Given the description of an element on the screen output the (x, y) to click on. 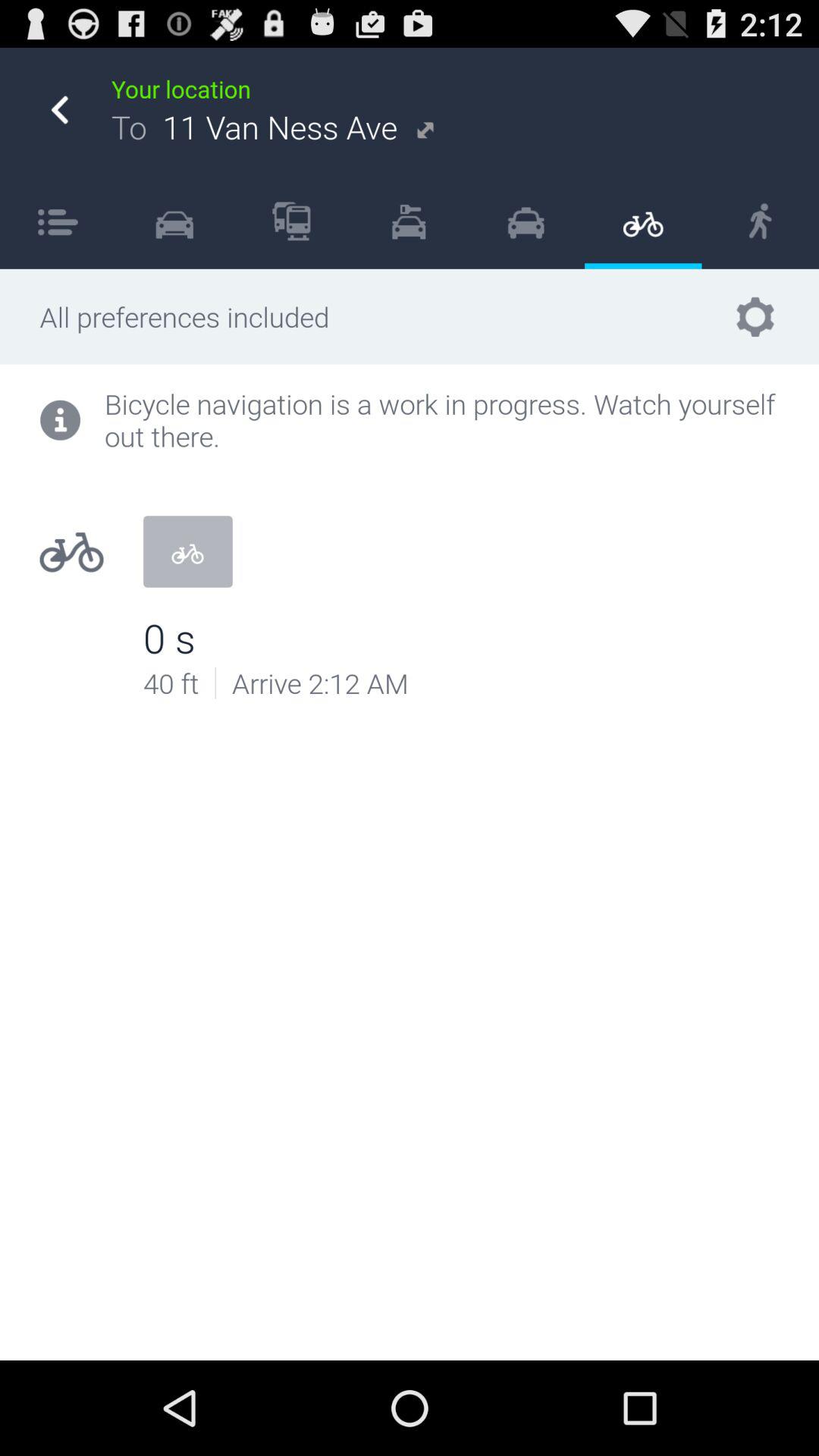
turn off item above the 0 s icon (187, 551)
